Given the description of an element on the screen output the (x, y) to click on. 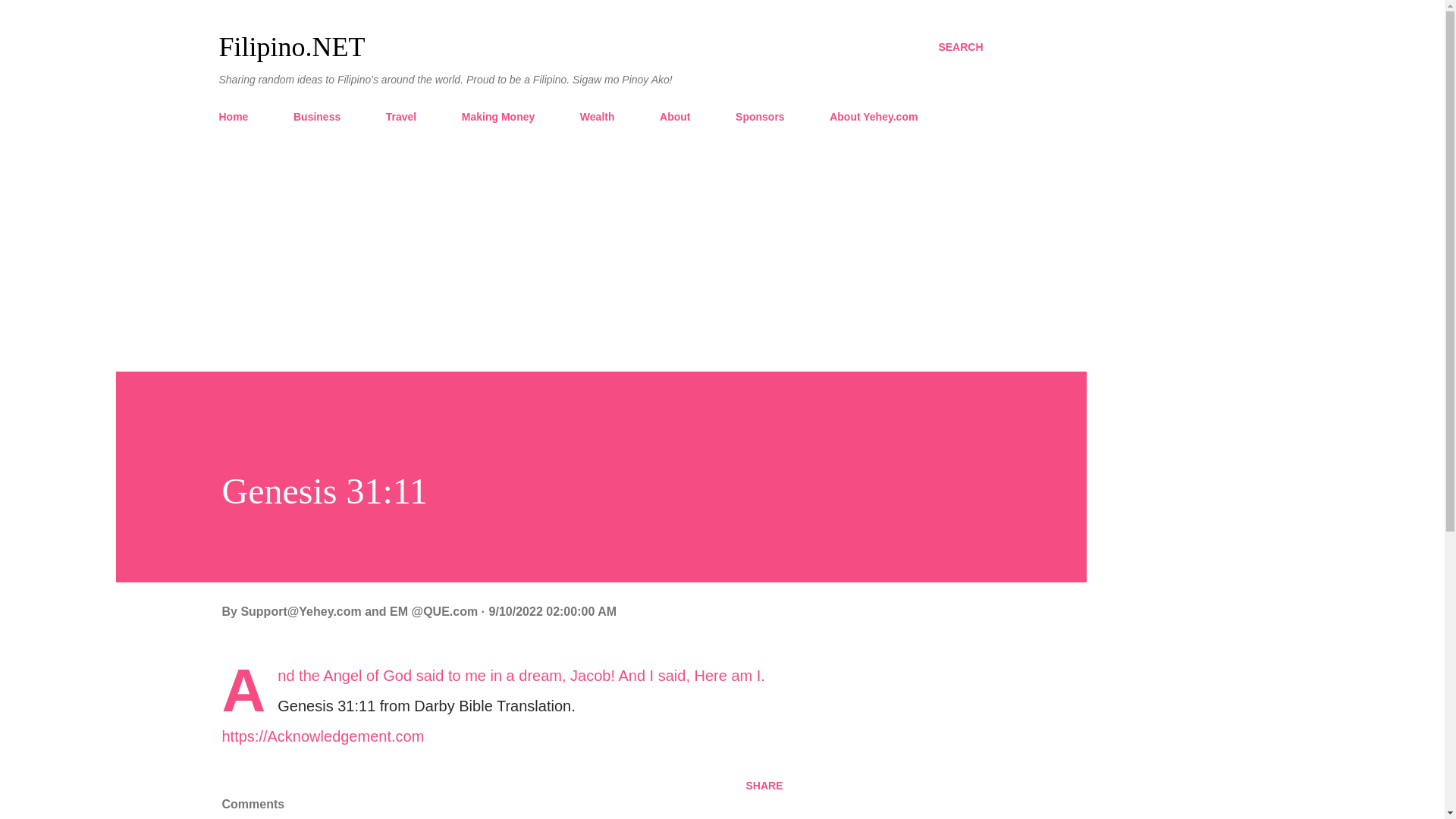
Travel (401, 116)
Making Money (497, 116)
Wealth (597, 116)
About (674, 116)
SHARE (764, 785)
Sponsors (759, 116)
SEARCH (959, 46)
About Yehey.com (873, 116)
Home (237, 116)
Filipino.NET (291, 46)
permanent link (552, 611)
Business (316, 116)
